Given the description of an element on the screen output the (x, y) to click on. 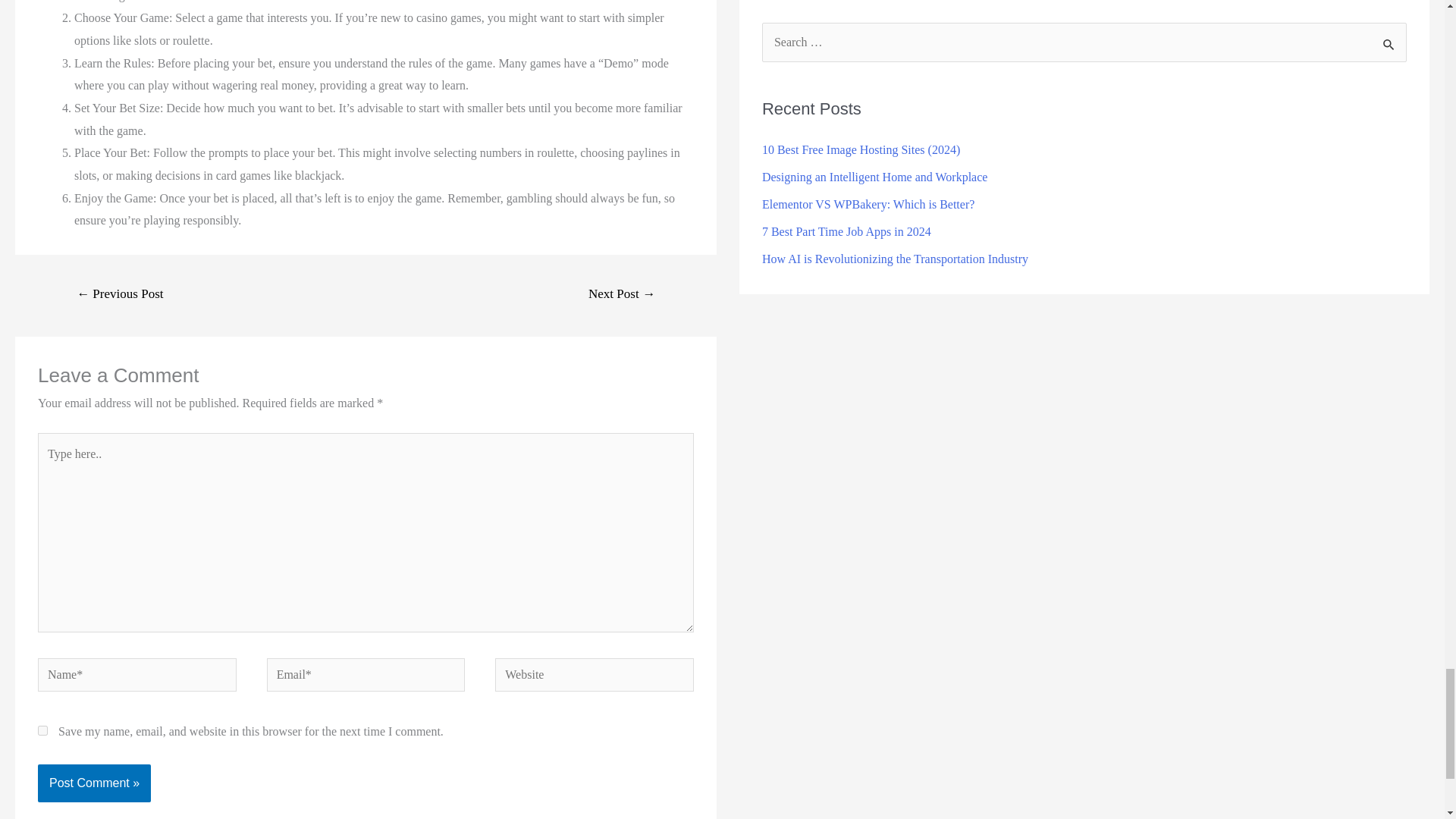
yes (42, 730)
